Given the description of an element on the screen output the (x, y) to click on. 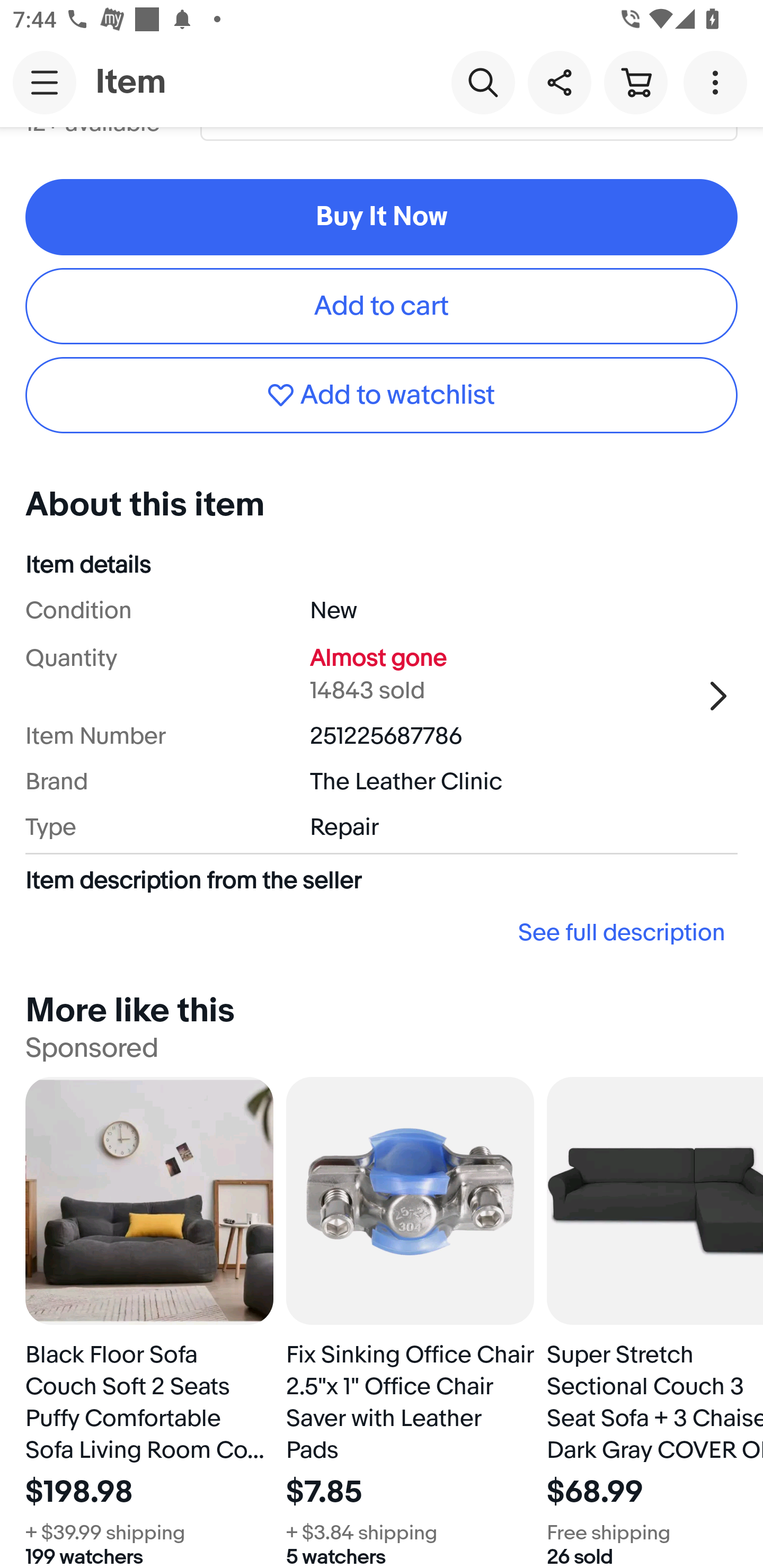
Main navigation, open (44, 82)
Search (482, 81)
Share this item (559, 81)
Cart button shopping cart (635, 81)
More options (718, 81)
Buy It Now (381, 216)
Add to cart (381, 306)
Add to watchlist (381, 394)
See full description (381, 931)
